Given the description of an element on the screen output the (x, y) to click on. 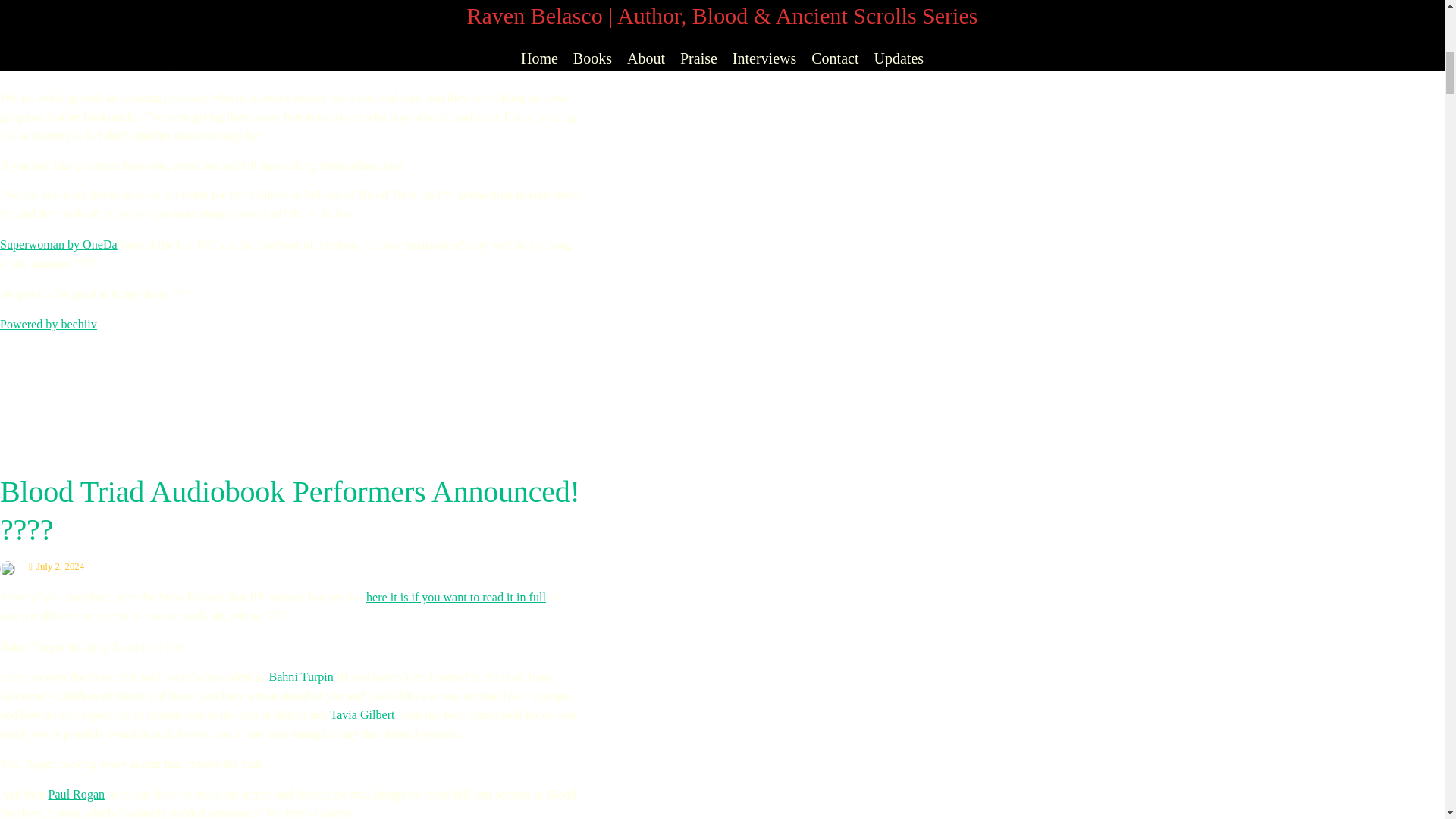
Tavia Gilbert (362, 714)
Blood Triad Audiobook Performers Announced! ???? (289, 511)
Paul Rogan (76, 793)
6:26 pm (56, 566)
Superwoman by OneDa (58, 244)
View all posts by  (10, 566)
here it is if you want to read it in full (456, 596)
Powered by beehiiv (48, 323)
July 2, 2024 (56, 566)
Bahni Turpin (300, 676)
